Given the description of an element on the screen output the (x, y) to click on. 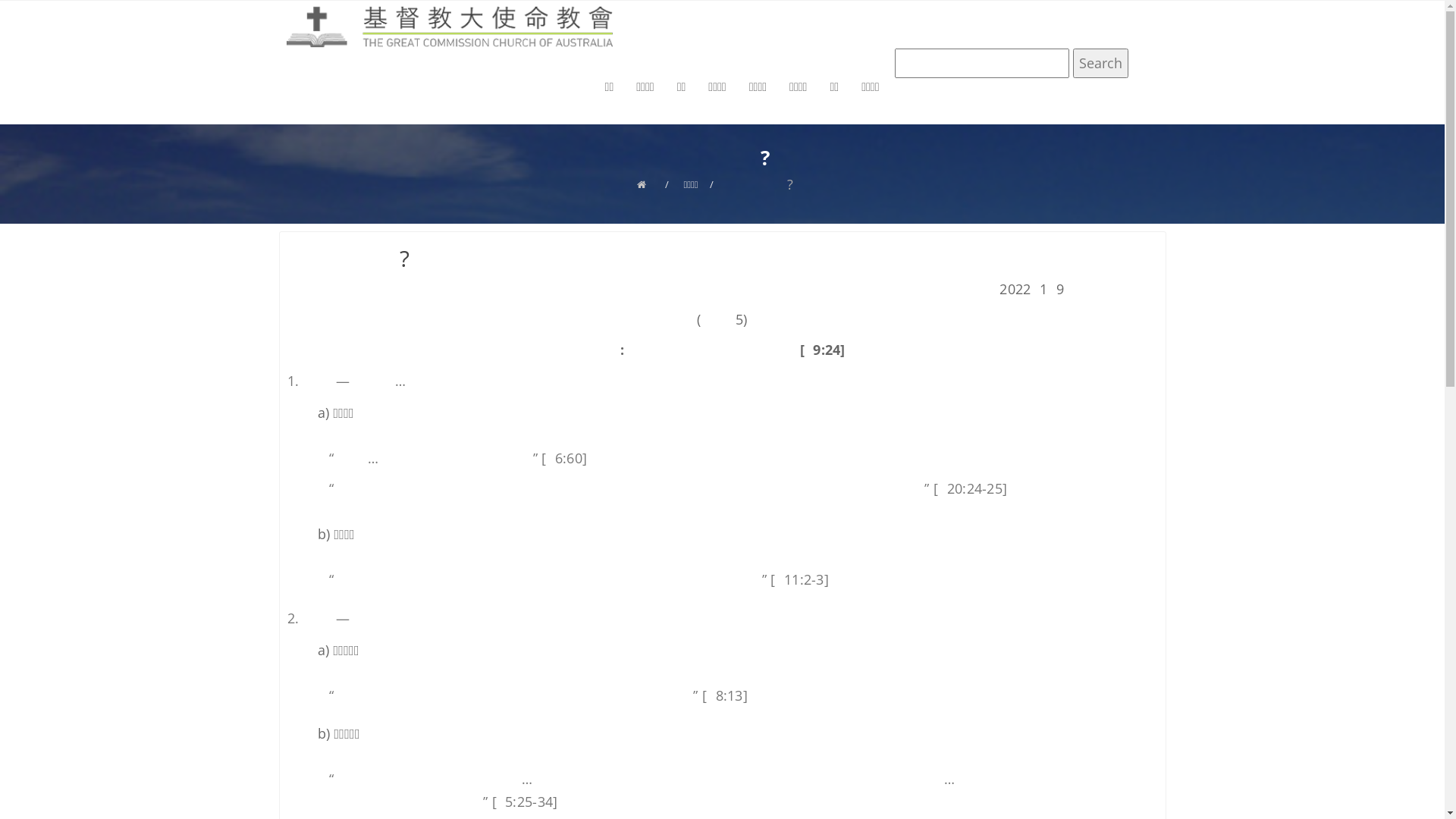
Search Element type: text (1099, 63)
